Given the description of an element on the screen output the (x, y) to click on. 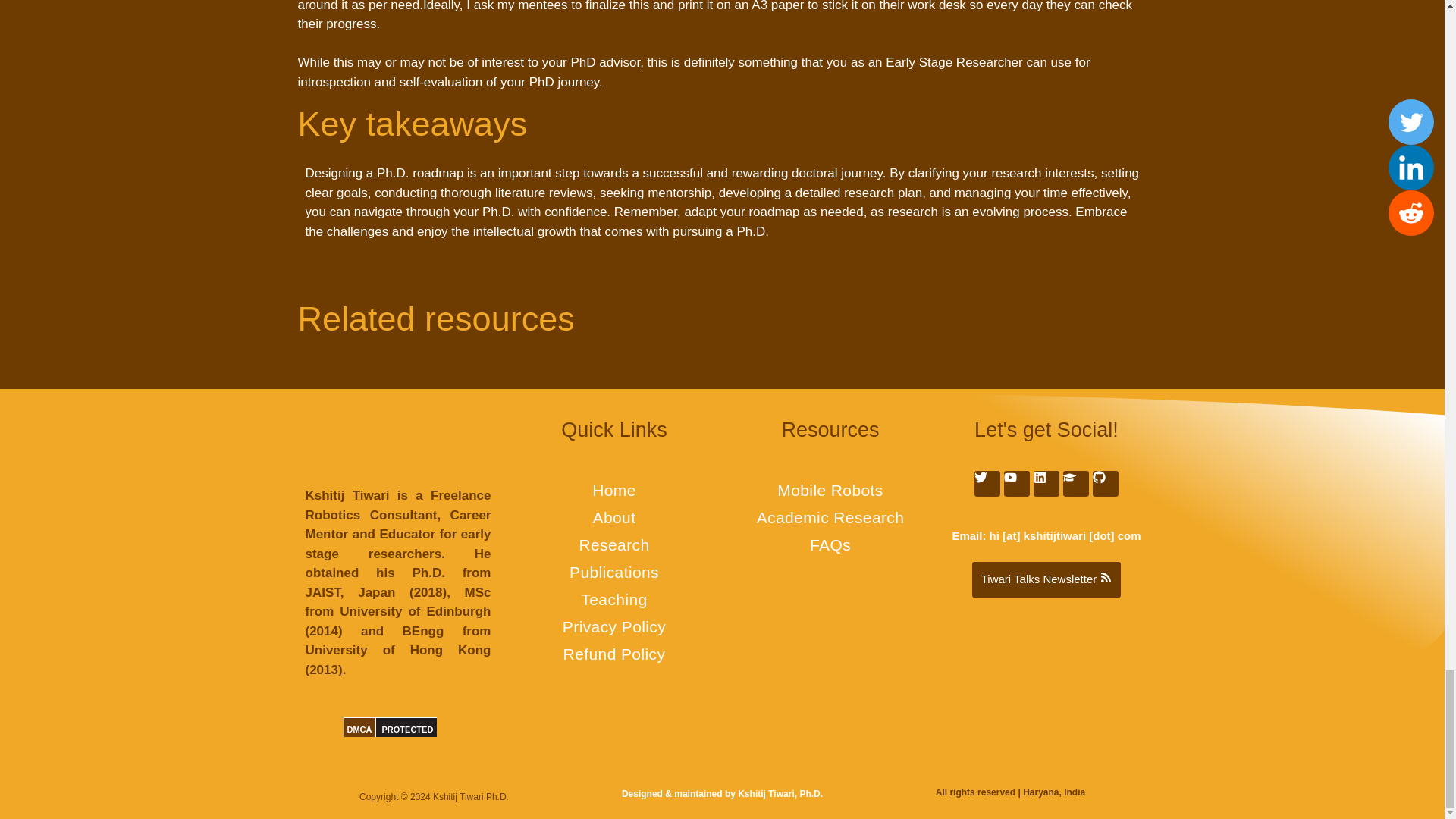
DMCA (359, 728)
DMCA (407, 728)
